Given the description of an element on the screen output the (x, y) to click on. 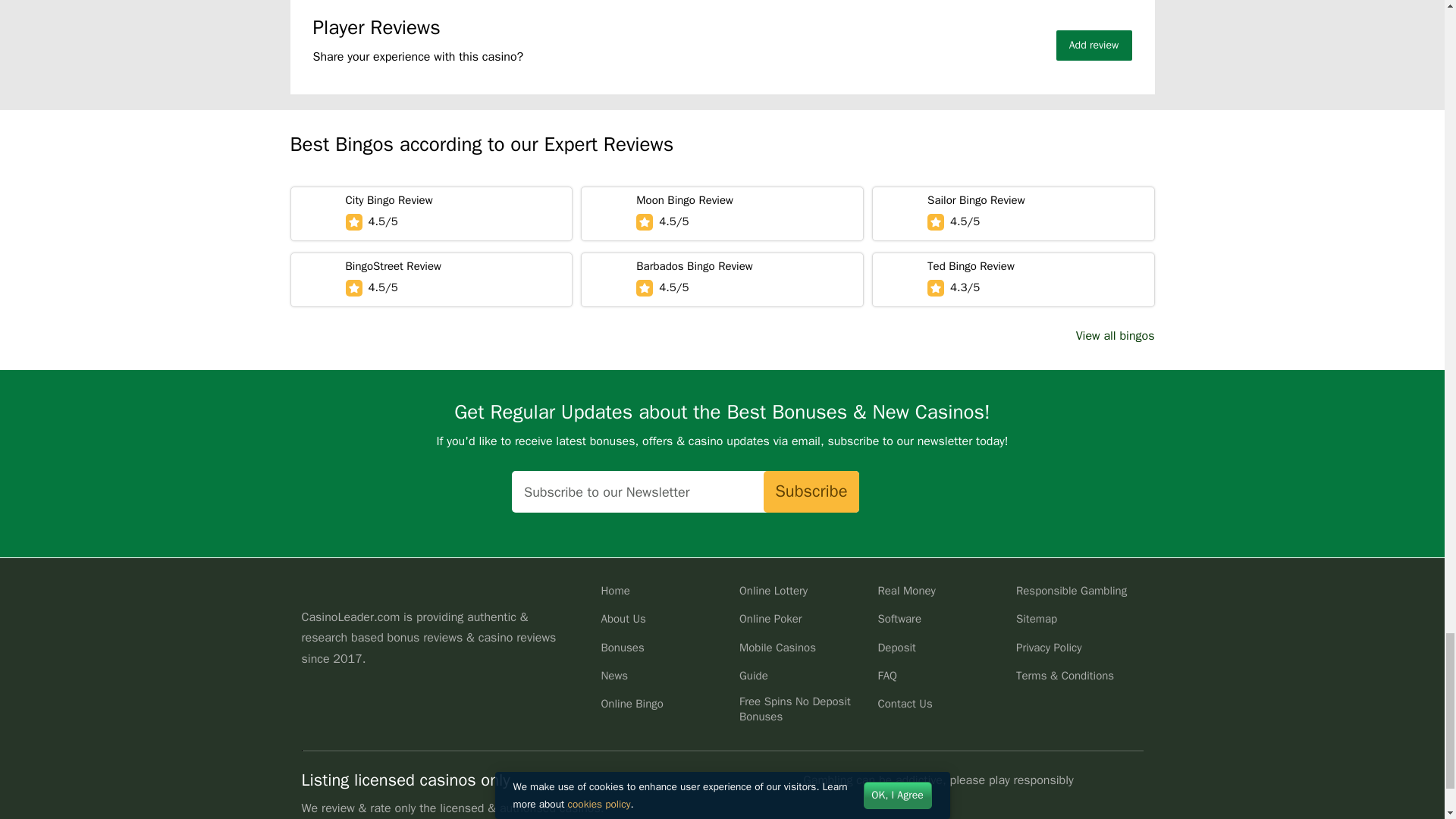
City Bingo (316, 213)
Casino Leader (369, 593)
Sailor Bingo (898, 213)
Responsible Gambling (778, 815)
BingoStreet (316, 279)
Moon Bingo (607, 213)
Barbados Bingo (607, 279)
Ted Bingo (898, 279)
Gam Care (850, 816)
